Given the description of an element on the screen output the (x, y) to click on. 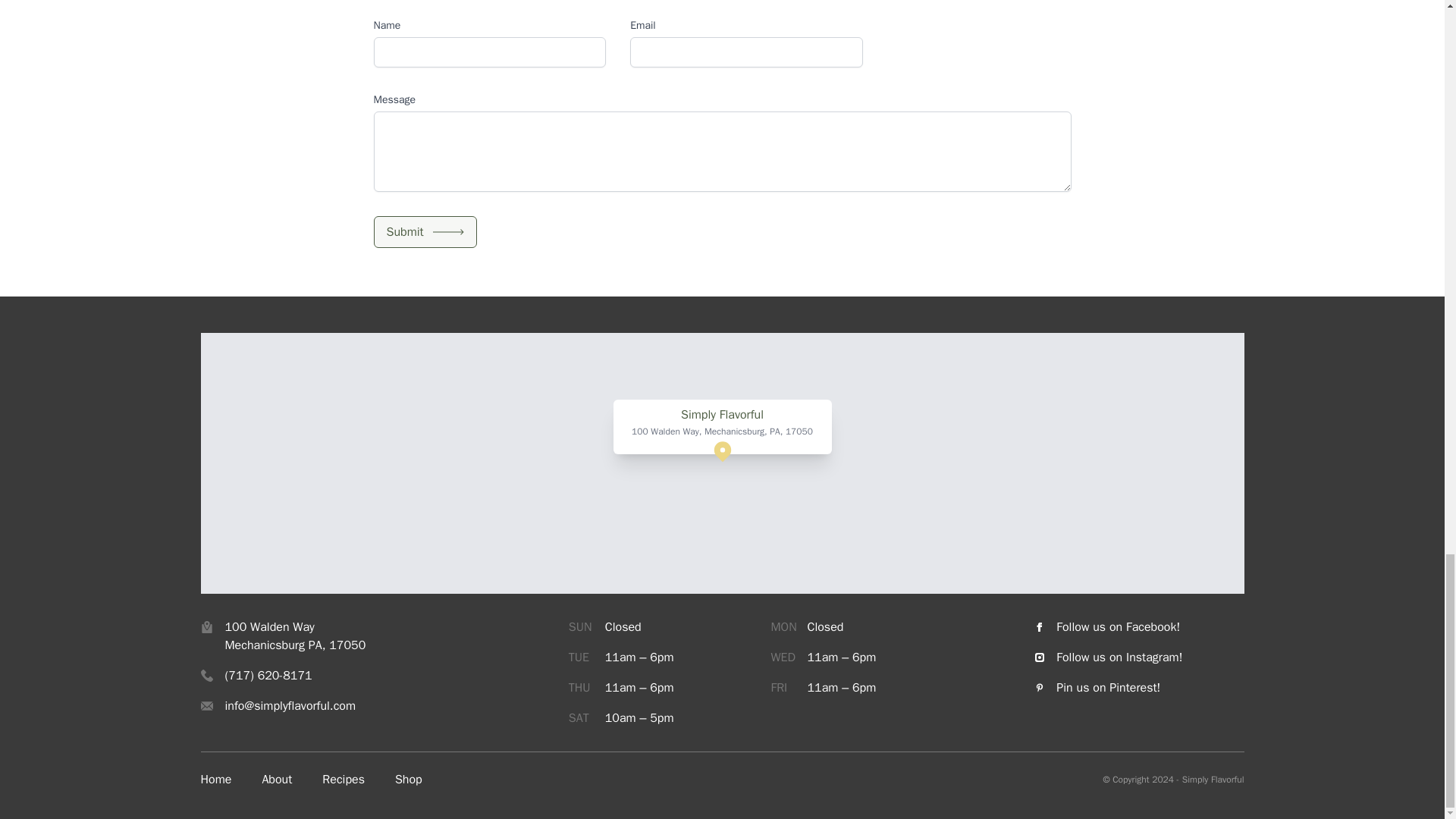
Follow us on Instagram! (1139, 657)
Follow us on Facebook! (1139, 627)
Home (215, 779)
Submit (424, 232)
Shop (408, 779)
Pin us on Pinterest! (1139, 687)
Recipes (343, 779)
About (277, 779)
